Given the description of an element on the screen output the (x, y) to click on. 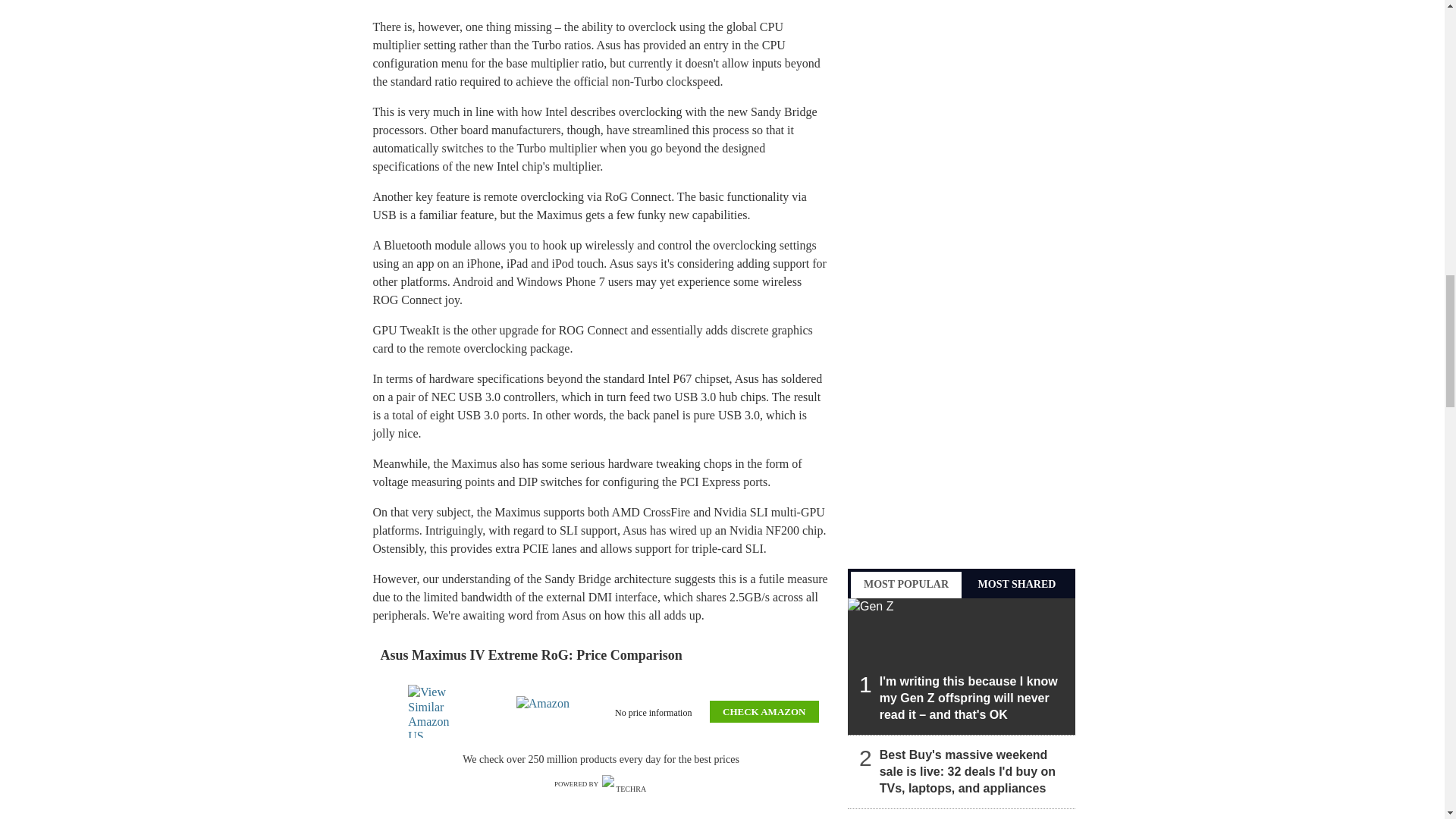
View Similar Amazon US (437, 710)
Techradar (624, 783)
Amazon (546, 711)
